Given the description of an element on the screen output the (x, y) to click on. 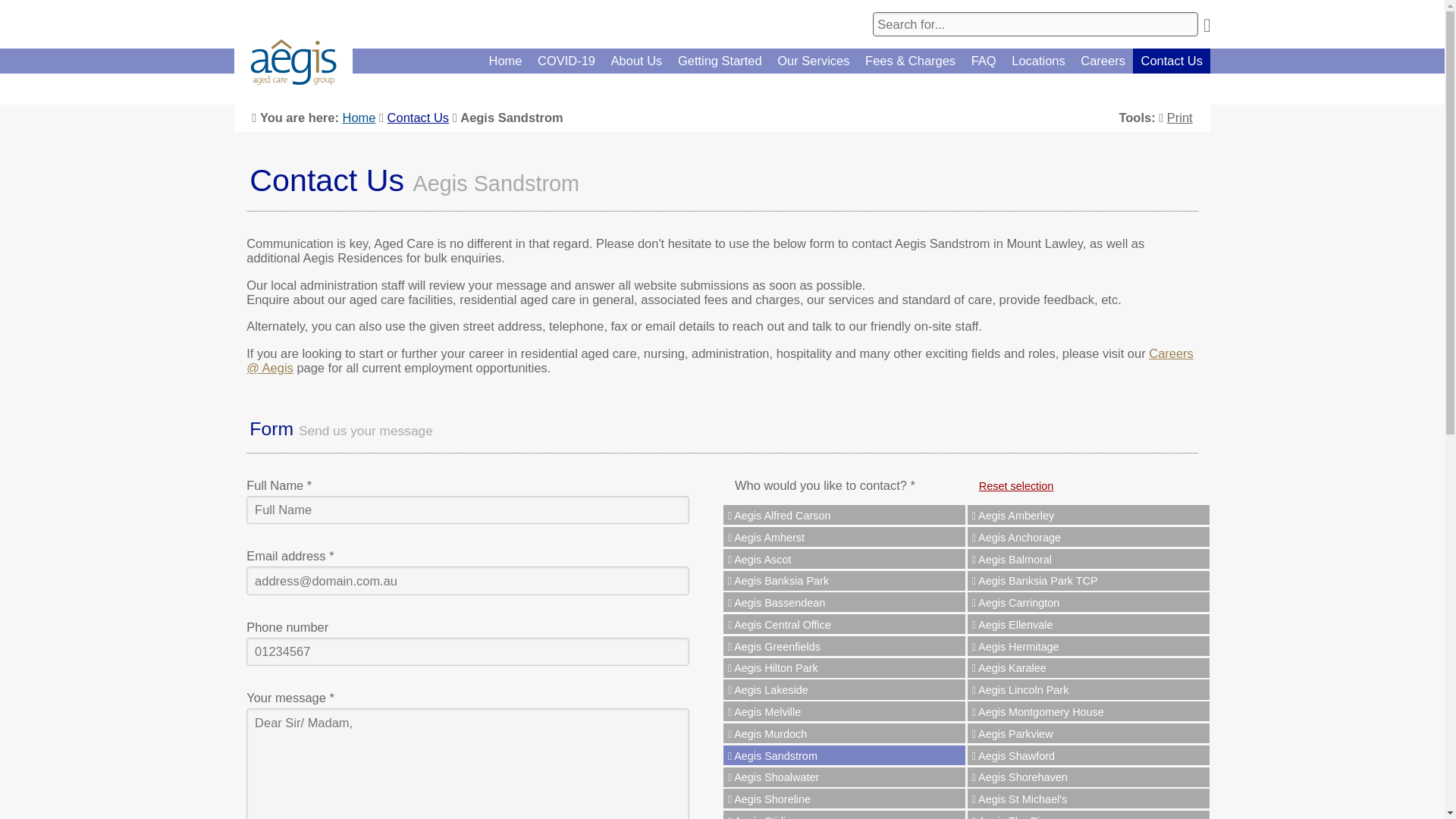
Aegis Banksia Park (844, 580)
Home (504, 60)
COVID-19 (566, 60)
Aegis Hermitage (1088, 646)
Aegis Anchorage (1088, 537)
Aegis Amherst (844, 537)
Aegis Murdoch (844, 732)
Aegis Carrington (1088, 601)
Aegis Bassendean (844, 601)
Aegis Lakeside (844, 689)
Reset selection (1016, 485)
Aegis Melville (844, 711)
About Us (635, 60)
Print (1175, 117)
Print (1175, 117)
